Given the description of an element on the screen output the (x, y) to click on. 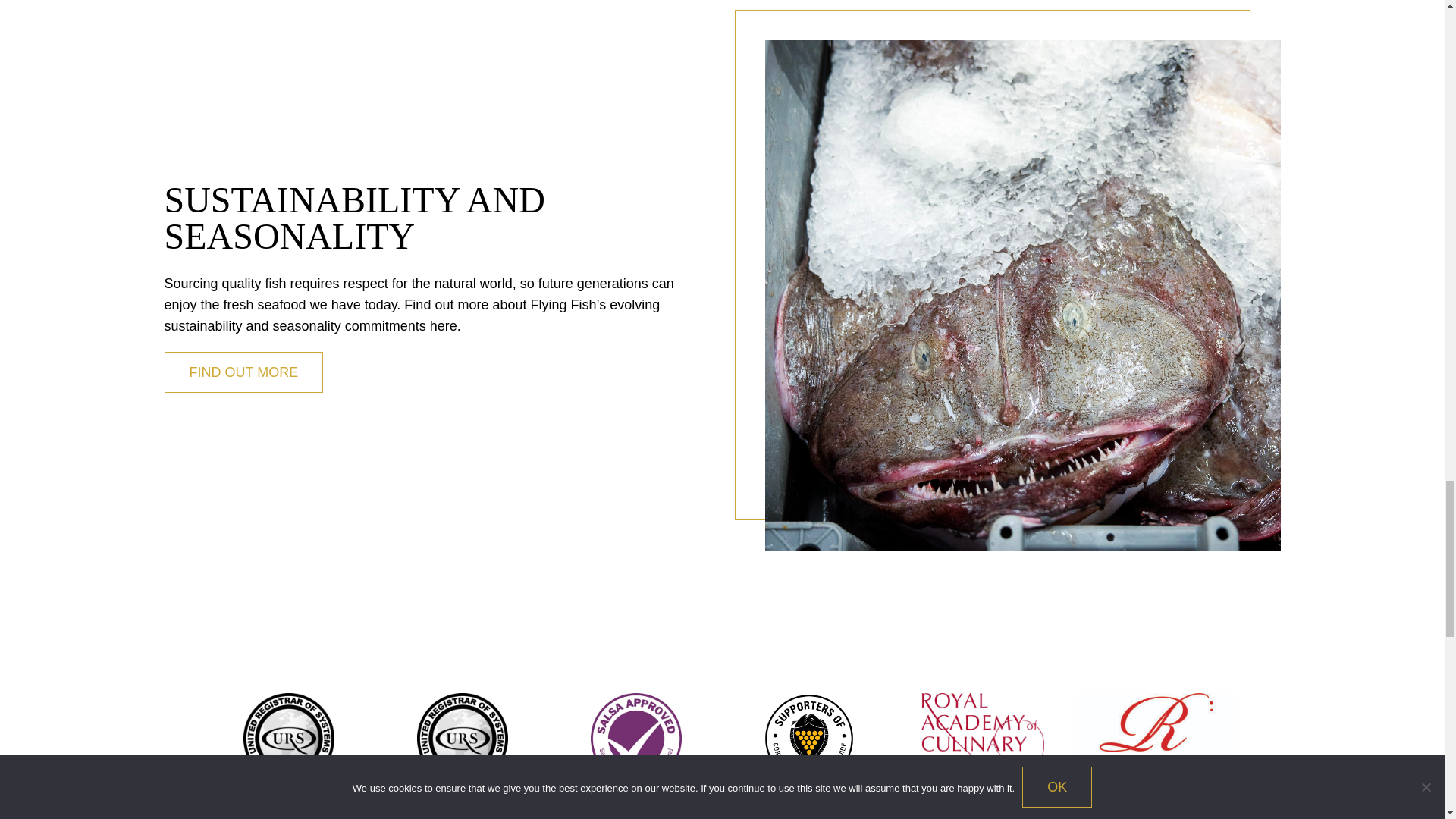
FIND OUT MORE (243, 372)
